Given the description of an element on the screen output the (x, y) to click on. 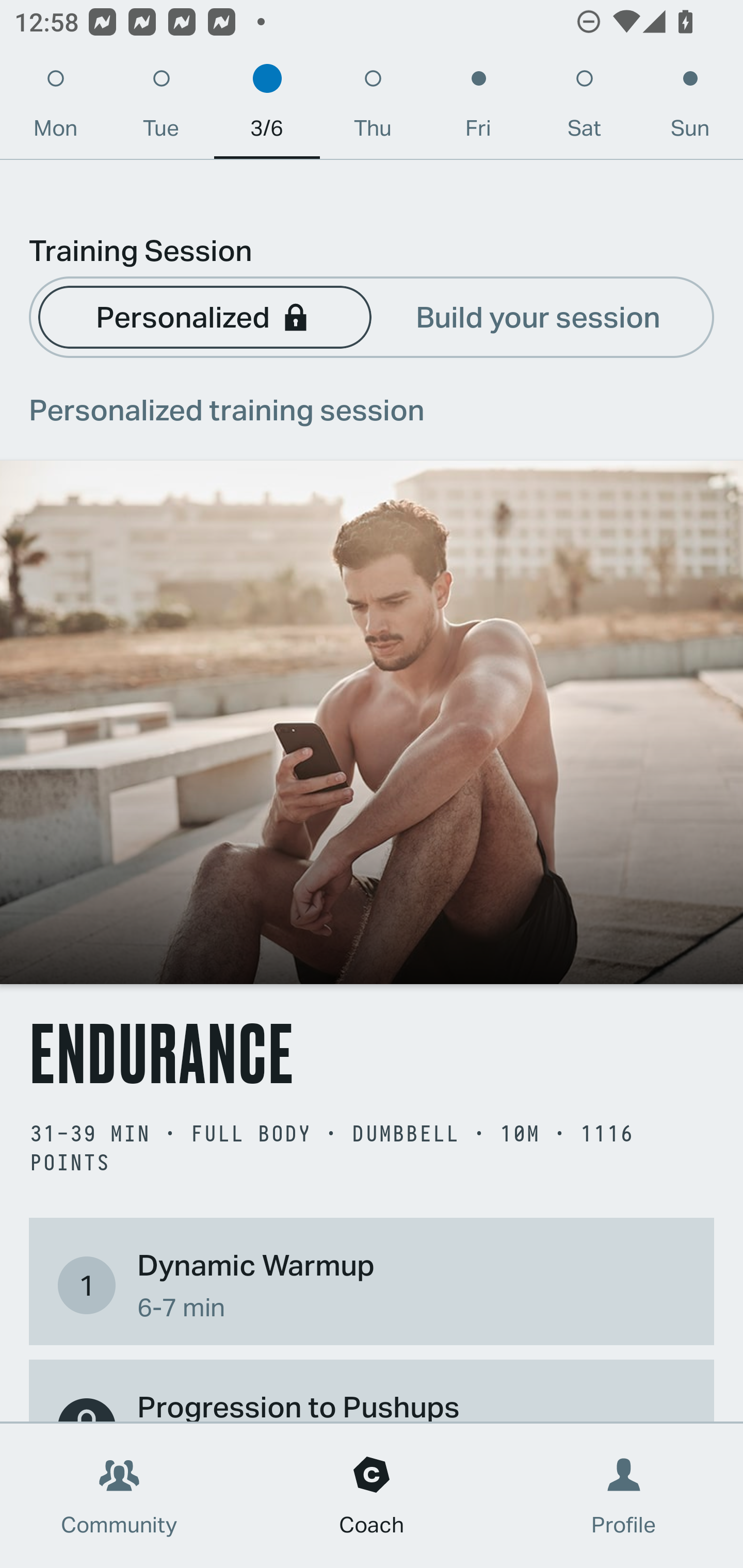
Mon (55, 108)
Tue (160, 108)
3/6 (266, 108)
Thu (372, 108)
Fri (478, 108)
Sat (584, 108)
Sun (690, 108)
Personalized (204, 315)
Build your session (538, 315)
1 Dynamic Warmup 6-7 min (371, 1284)
Community (119, 1495)
Profile (624, 1495)
